Given the description of an element on the screen output the (x, y) to click on. 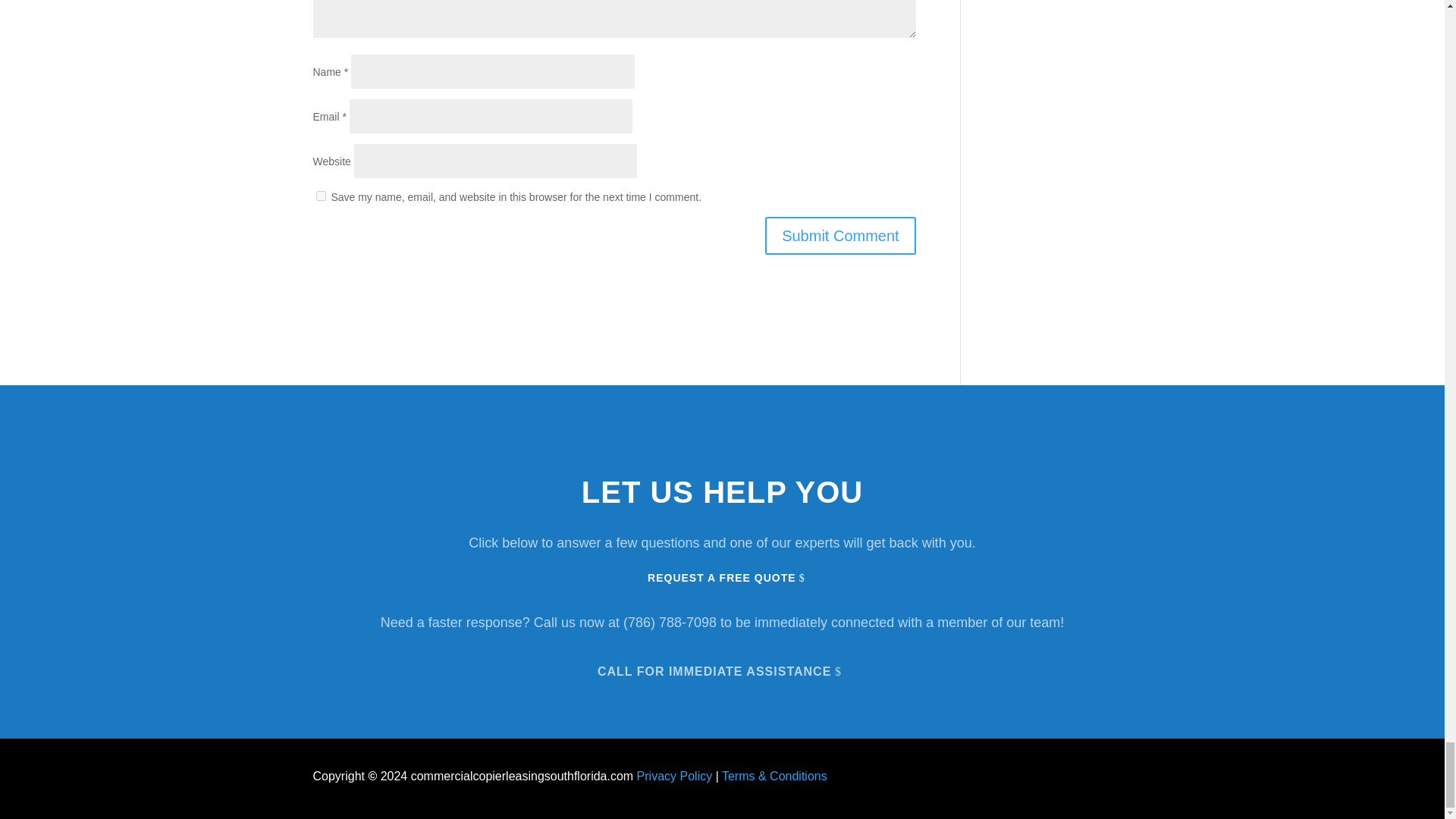
Submit Comment (840, 235)
yes (319, 195)
CALL FOR IMMEDIATE ASSISTANCE (721, 669)
Privacy Policy (675, 775)
Submit Comment (840, 235)
REQUEST A FREE QUOTE (721, 578)
